Given the description of an element on the screen output the (x, y) to click on. 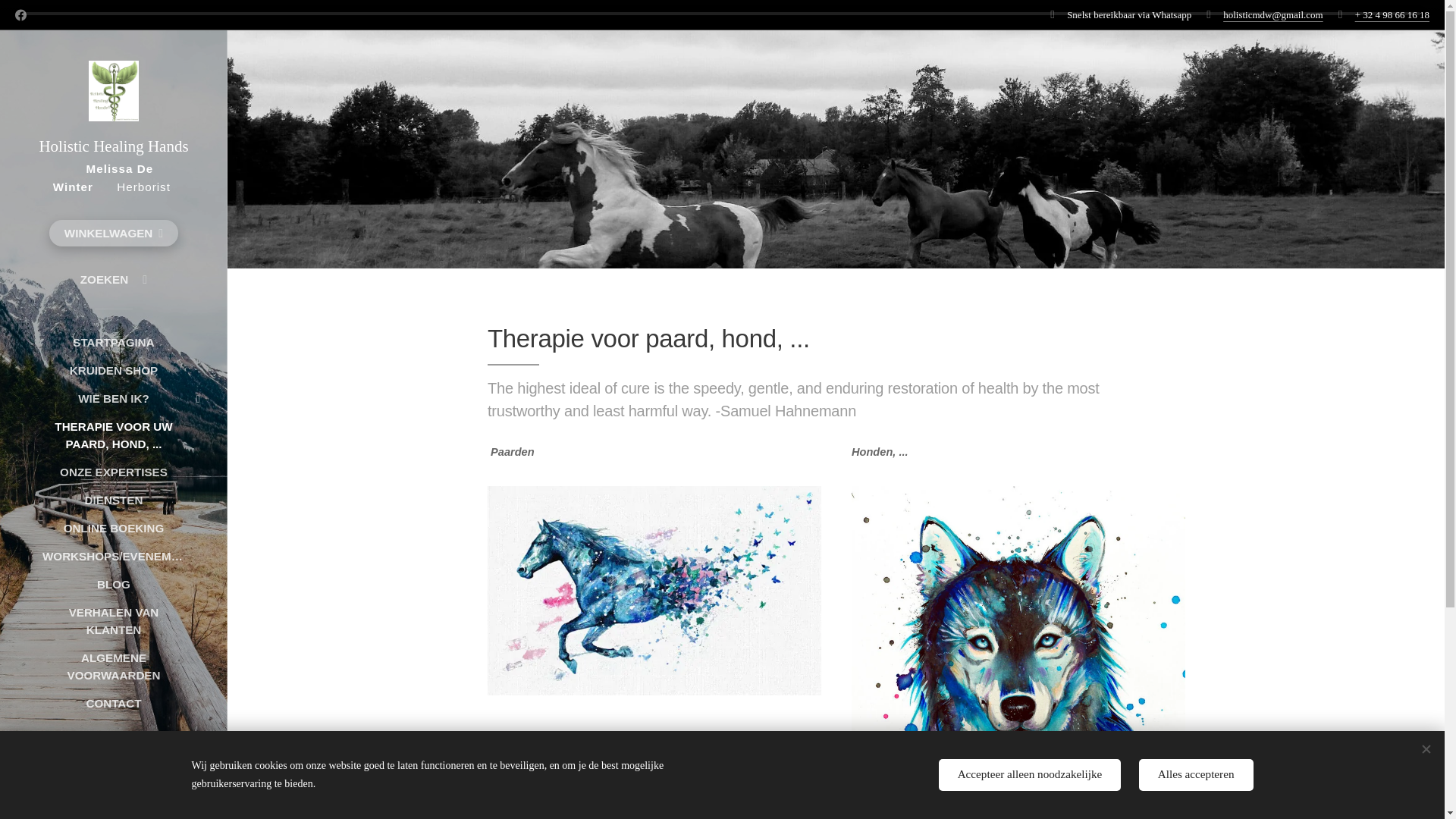
ONZE EXPERTISES (113, 471)
Holistic Healing Hands (114, 109)
Accepteer alleen noodzakelijke (1030, 774)
THERAPIE VOOR UW PAARD, HOND, ... (113, 434)
DIENSTEN (113, 499)
ONLINE BOEKING (113, 528)
Alles accepteren (1195, 774)
STARTPAGINA (113, 342)
CONTACT (113, 702)
WIE BEN IK? (113, 398)
WINKELWAGEN (113, 233)
KRUIDEN SHOP (113, 370)
Cookies (114, 795)
BLOG (113, 583)
ALGEMENE VOORWAARDEN (113, 666)
